Given the description of an element on the screen output the (x, y) to click on. 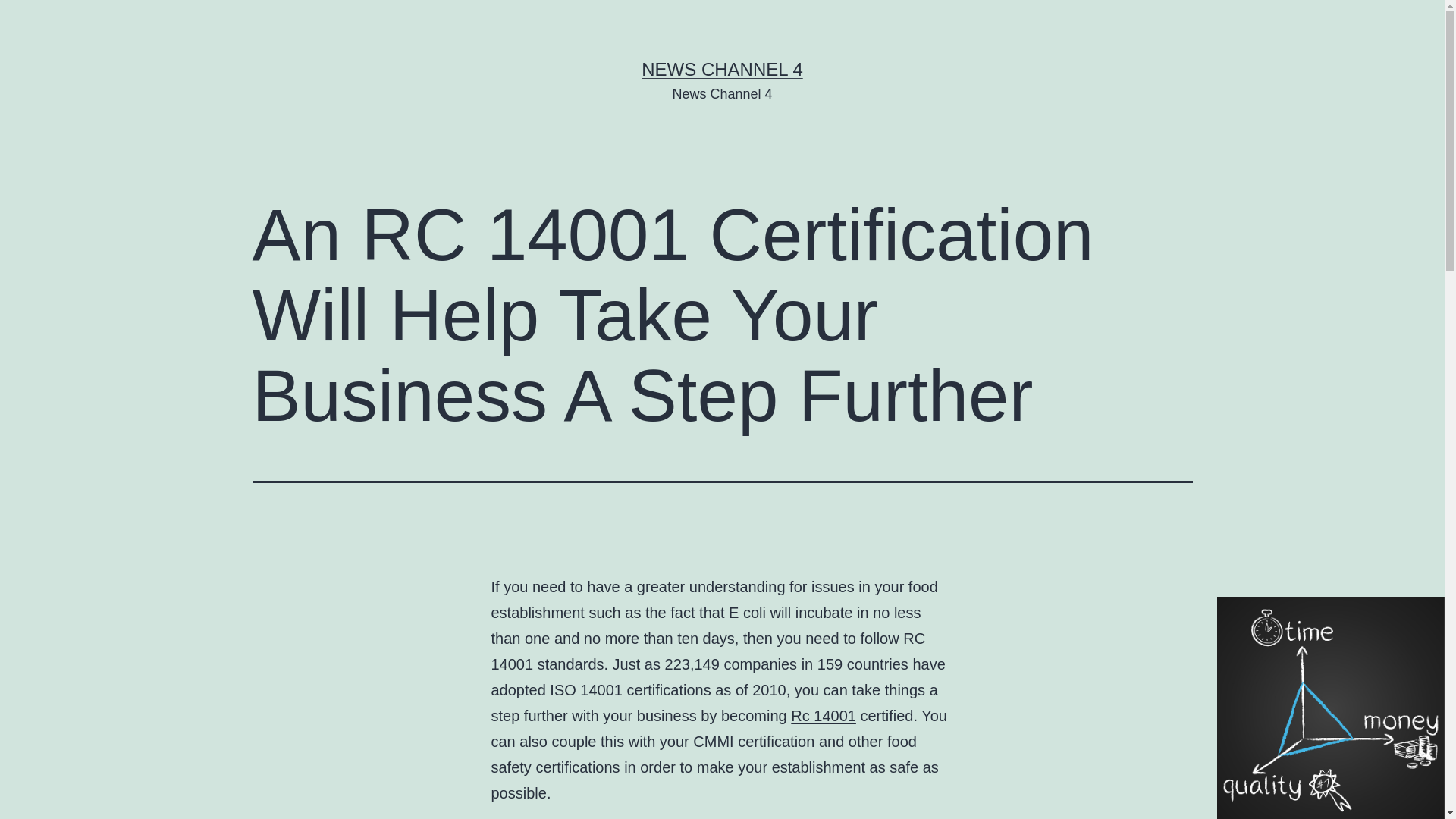
Iso 22000 certification, Iso 27001 certification (823, 715)
NEWS CHANNEL 4 (722, 68)
Rc 14001 (823, 715)
